Given the description of an element on the screen output the (x, y) to click on. 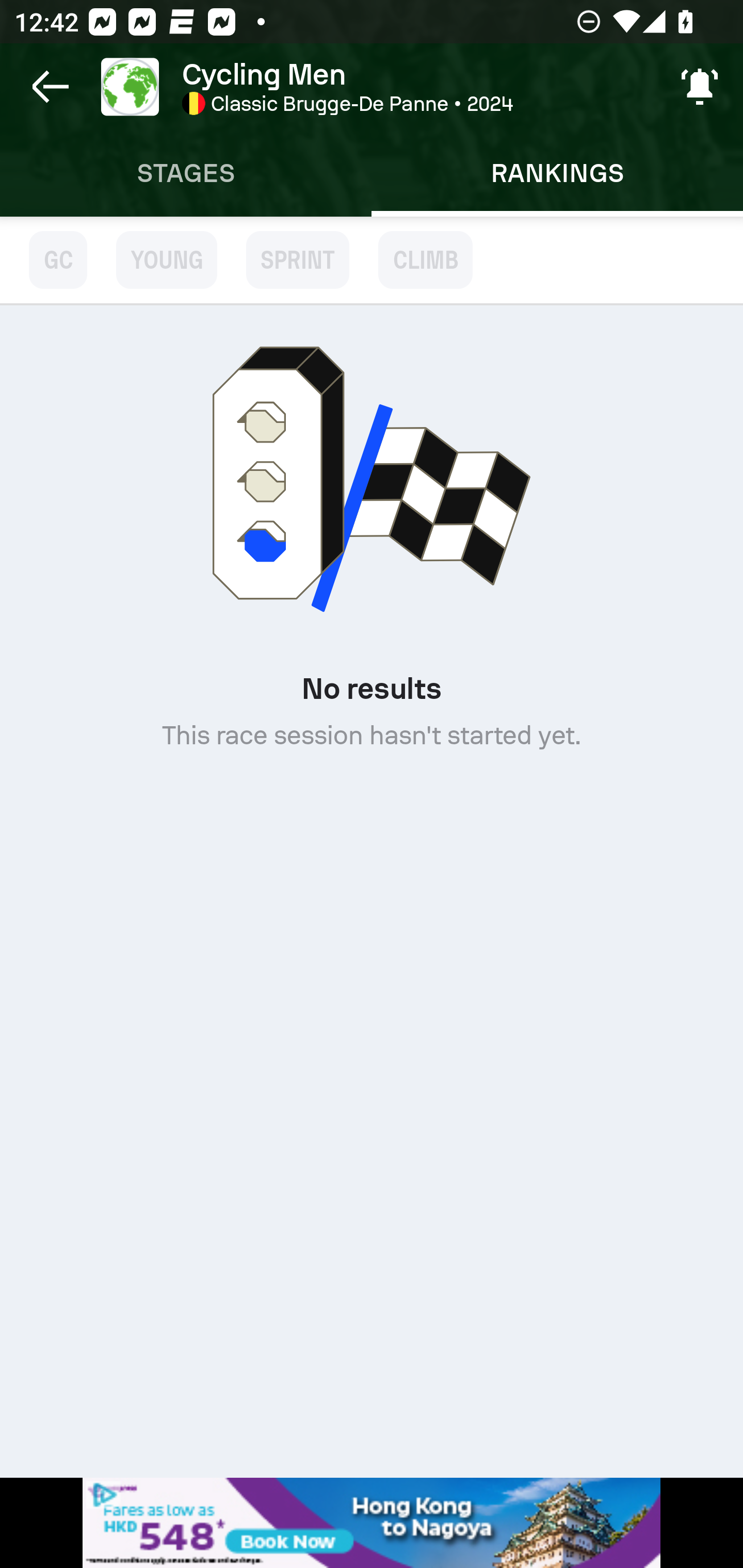
Navigate up (50, 86)
Stages STAGES (185, 173)
wi46309w_320x50 (371, 1522)
